Given the description of an element on the screen output the (x, y) to click on. 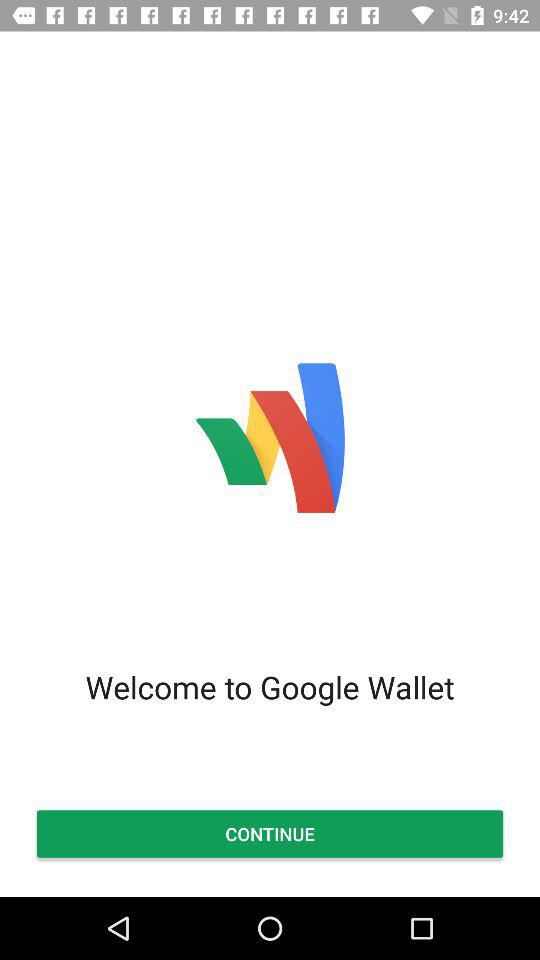
flip to continue icon (269, 833)
